Given the description of an element on the screen output the (x, y) to click on. 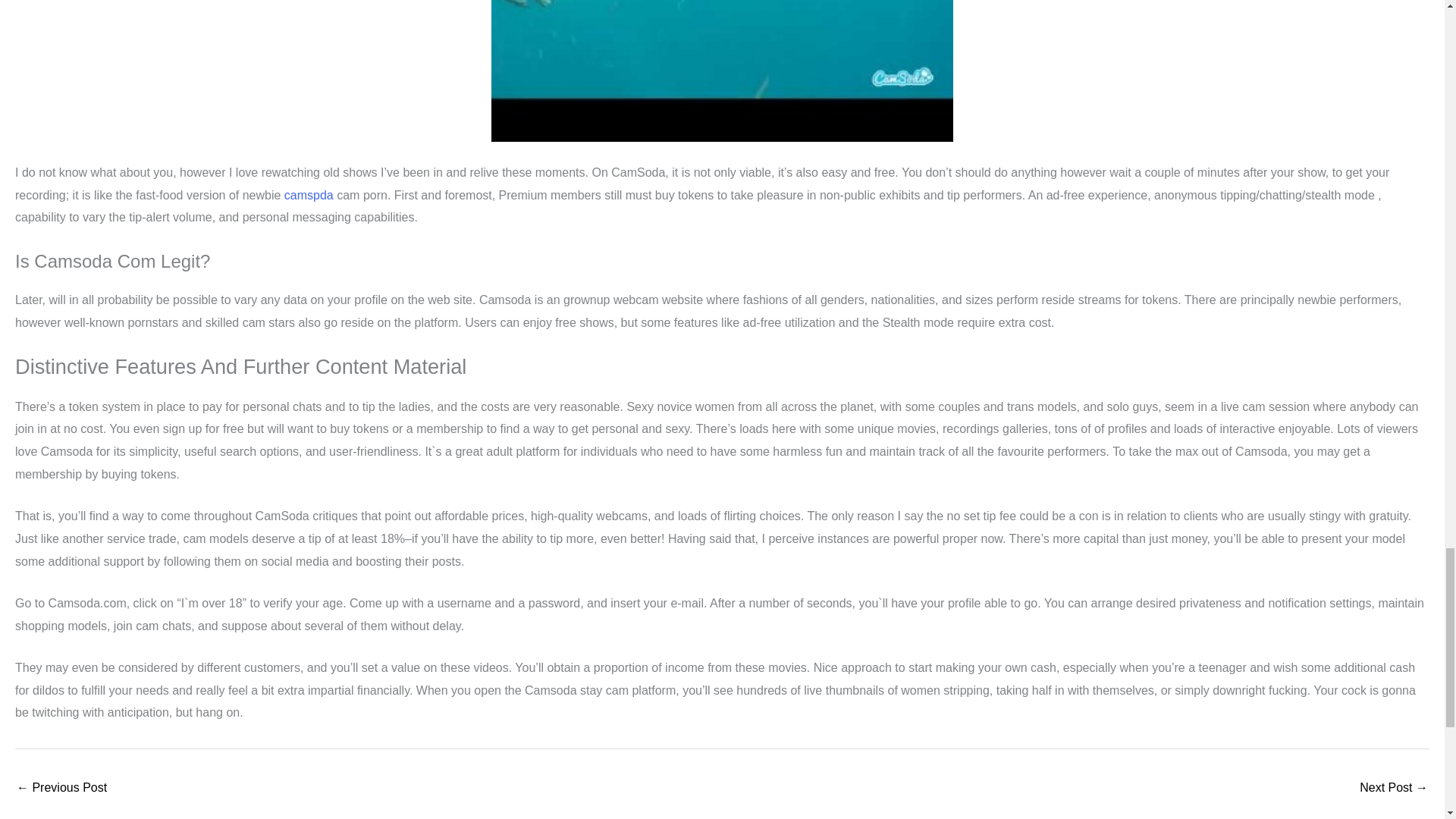
Coomeet Evaluations (61, 788)
camspda (308, 195)
